Given the description of an element on the screen output the (x, y) to click on. 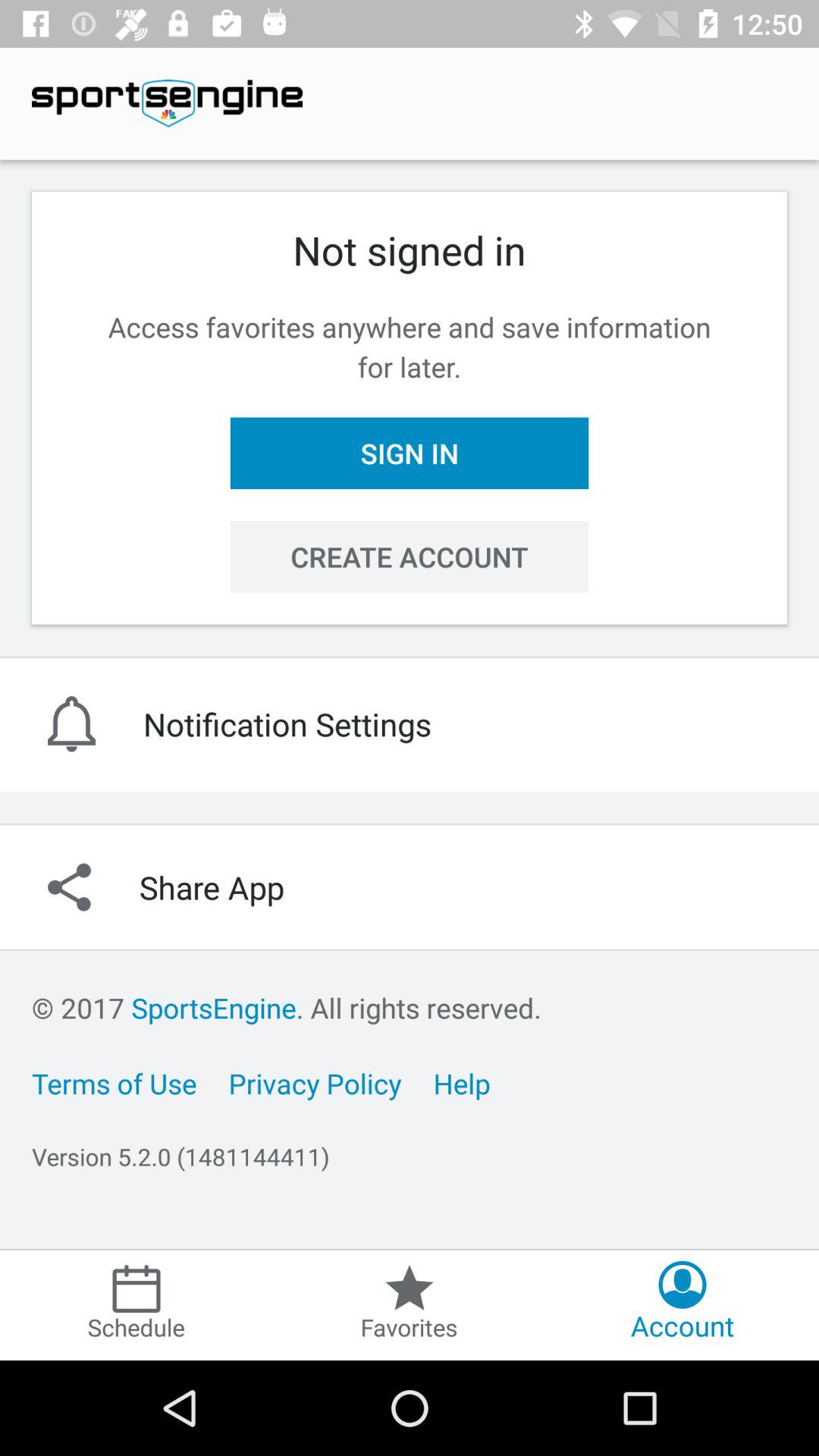
press the item below the 2017 sportsengine all icon (113, 1083)
